Given the description of an element on the screen output the (x, y) to click on. 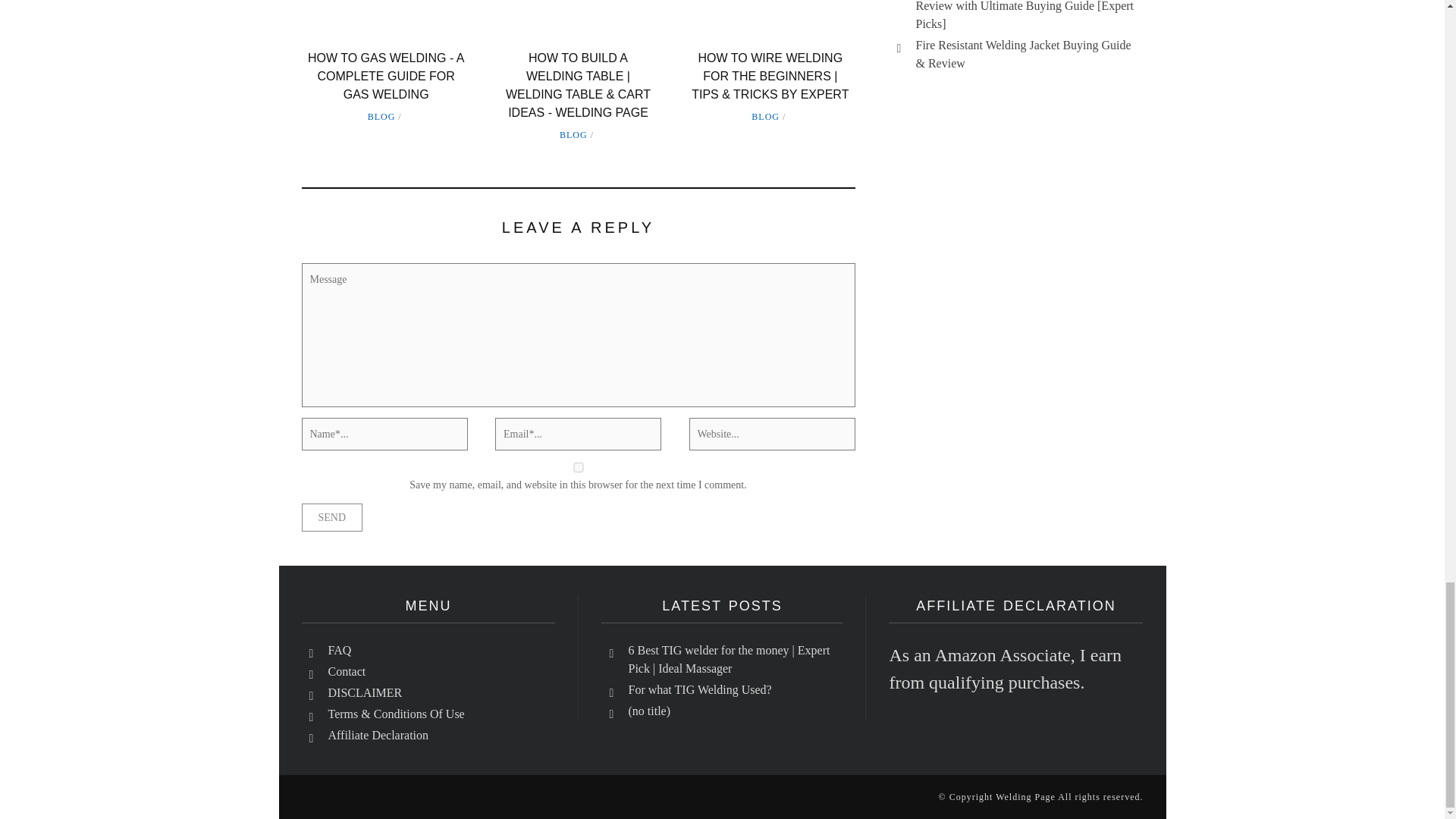
HOW TO GAS WELDING - A COMPLETE GUIDE FOR GAS WELDING (385, 75)
Send (331, 517)
yes (578, 467)
BLOG (382, 116)
